Given the description of an element on the screen output the (x, y) to click on. 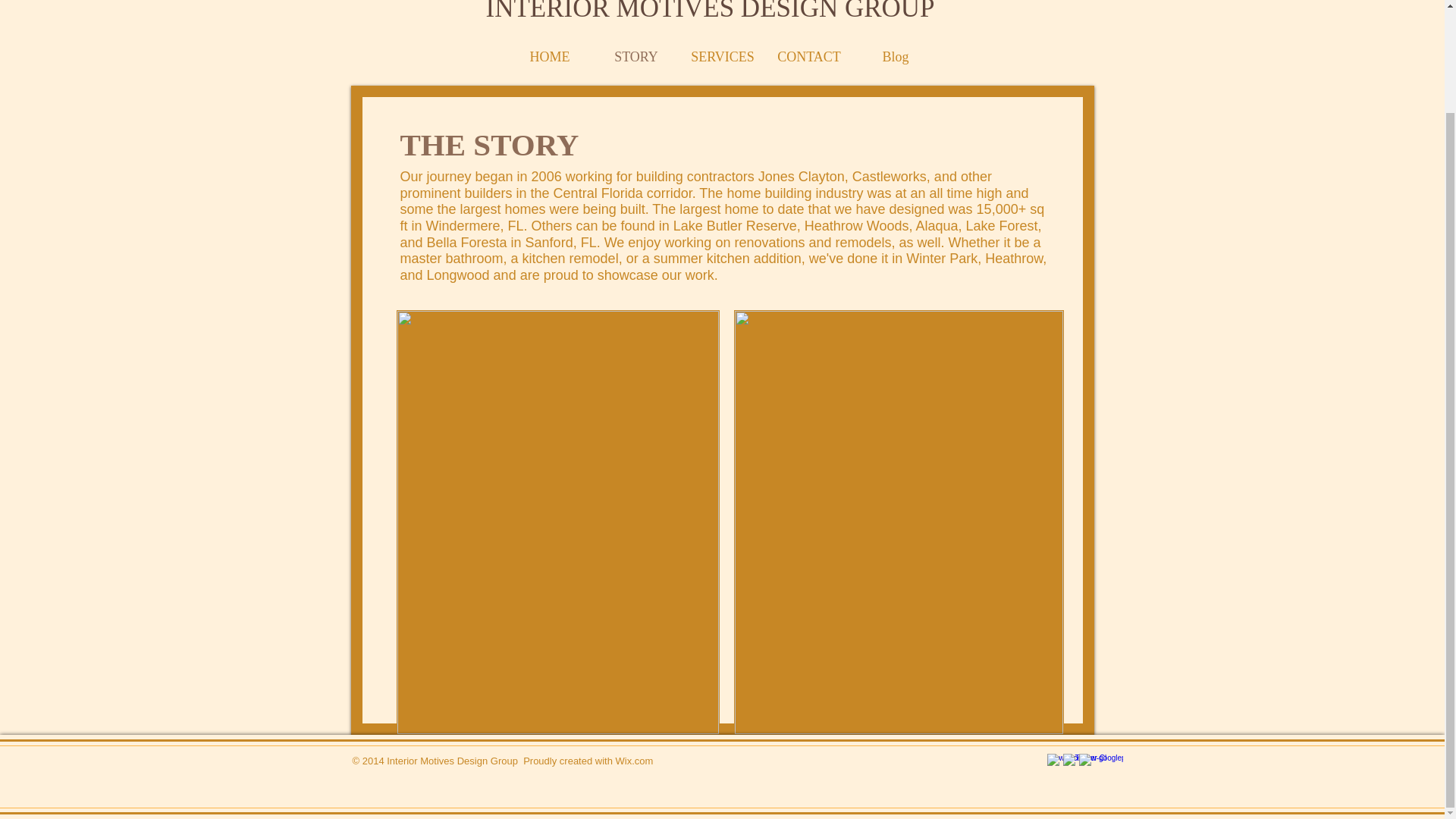
Blog (895, 56)
INTERIOR MOTIVES DESIGN GROUP (709, 11)
CONTACT (808, 56)
SERVICES (722, 56)
HOME (549, 56)
STORY (635, 56)
